Given the description of an element on the screen output the (x, y) to click on. 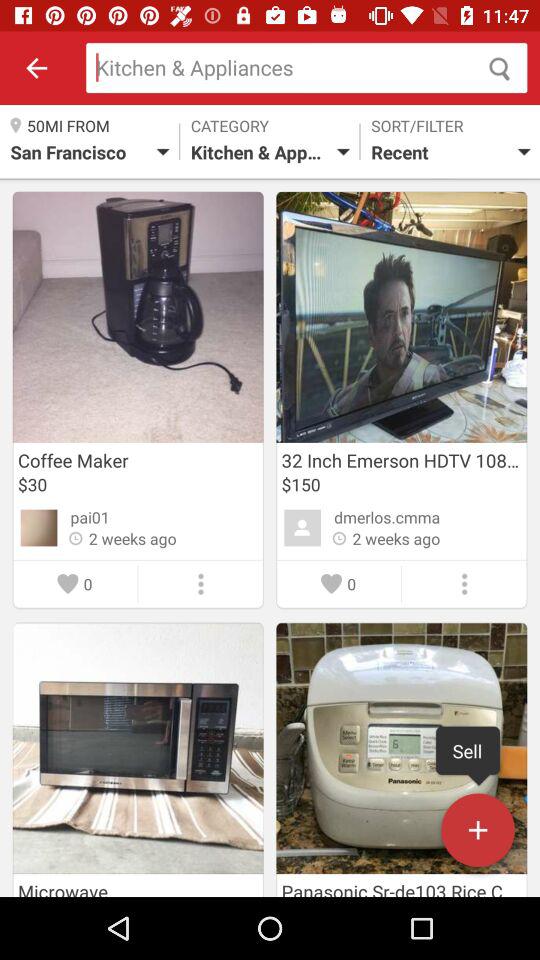
press icon below the $30 item (89, 517)
